Given the description of an element on the screen output the (x, y) to click on. 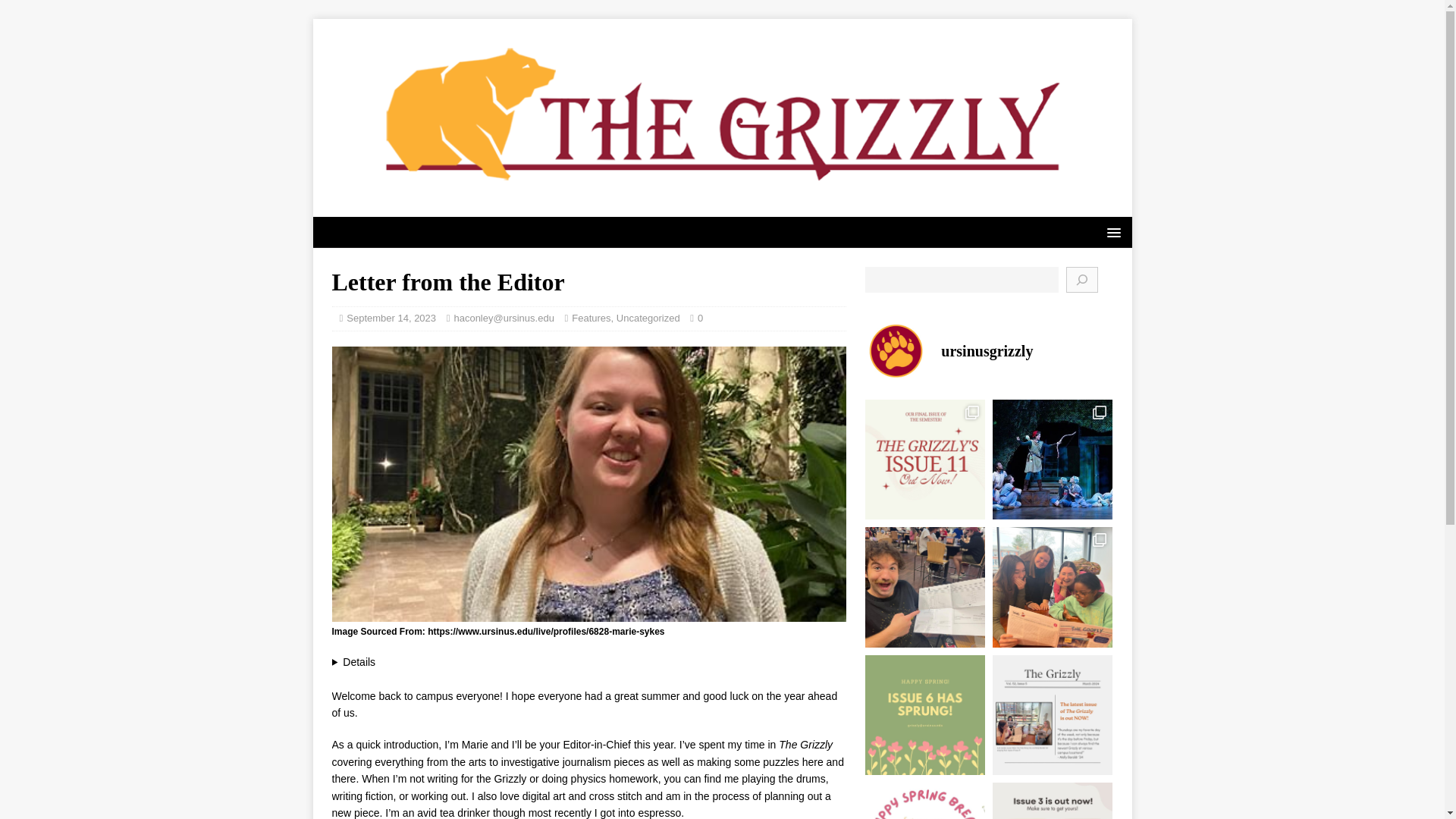
Features (591, 317)
September 14, 2023 (390, 317)
ursinusgrizzly (988, 351)
Uncategorized (647, 317)
